Given the description of an element on the screen output the (x, y) to click on. 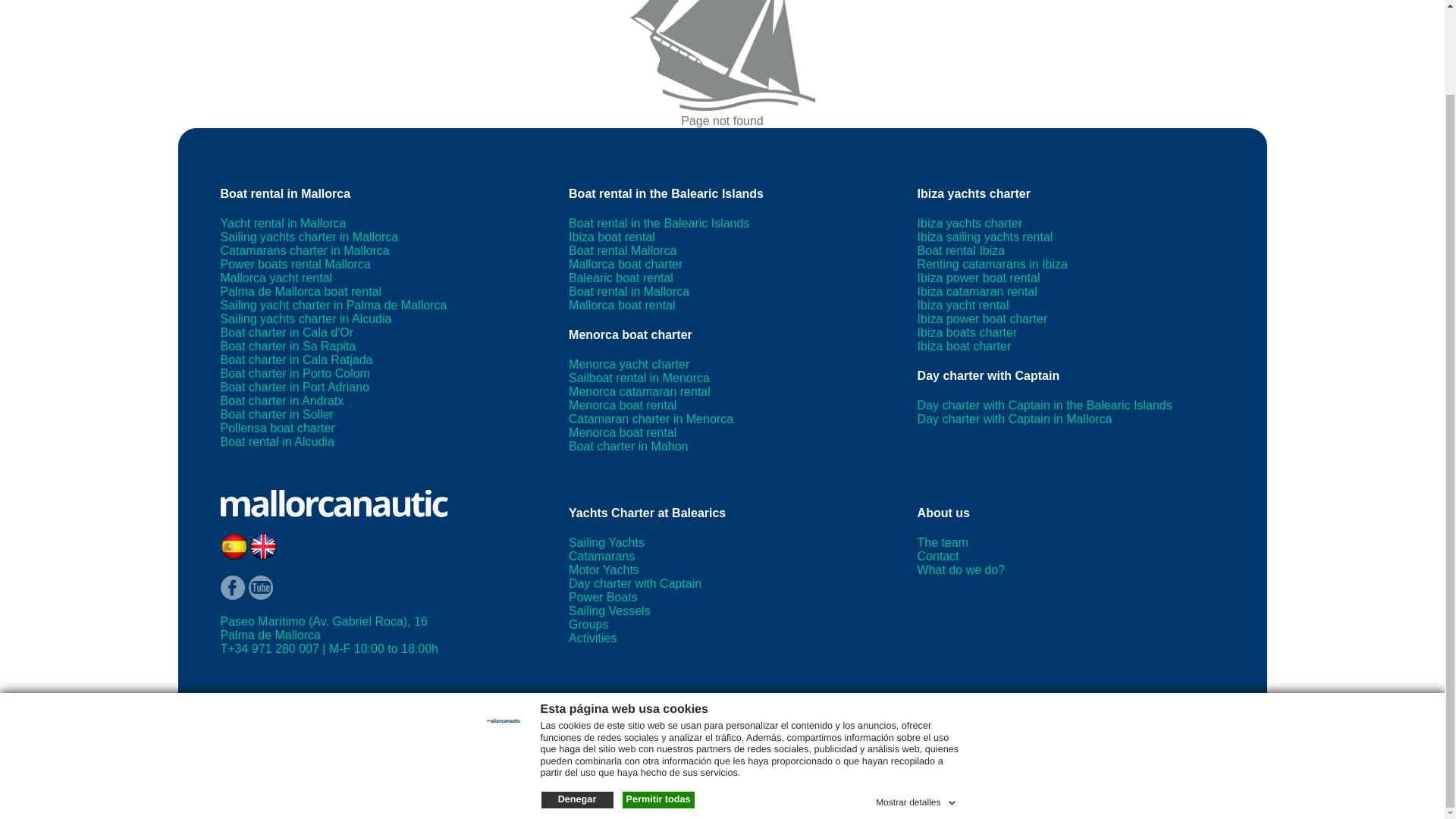
Denegar (576, 703)
Mostrar detalles (917, 703)
Permitir todas (657, 703)
